Given the description of an element on the screen output the (x, y) to click on. 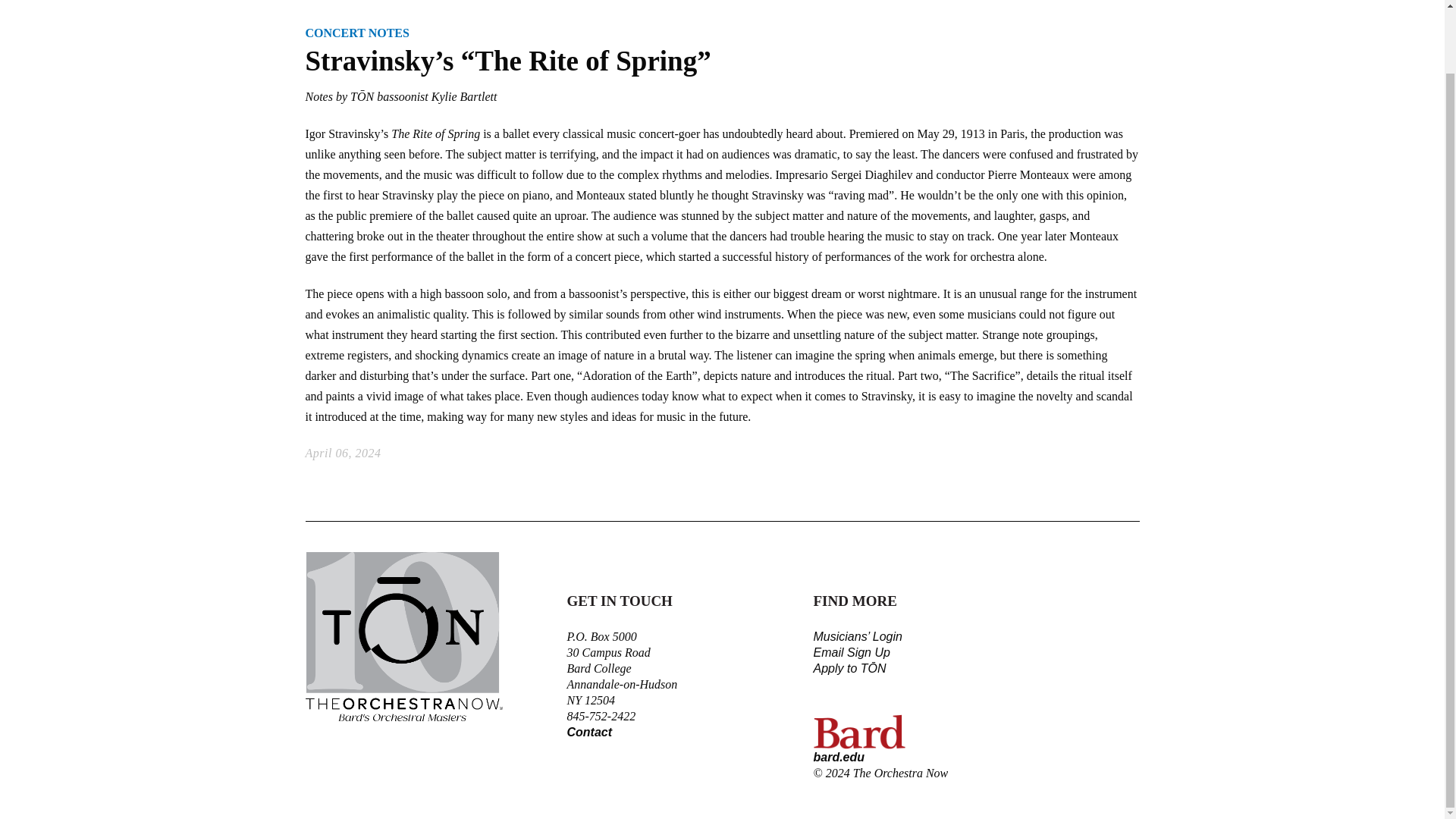
ABOUT (1087, 1)
ADMISSIONS (1175, 1)
GIVING (1372, 1)
